Given the description of an element on the screen output the (x, y) to click on. 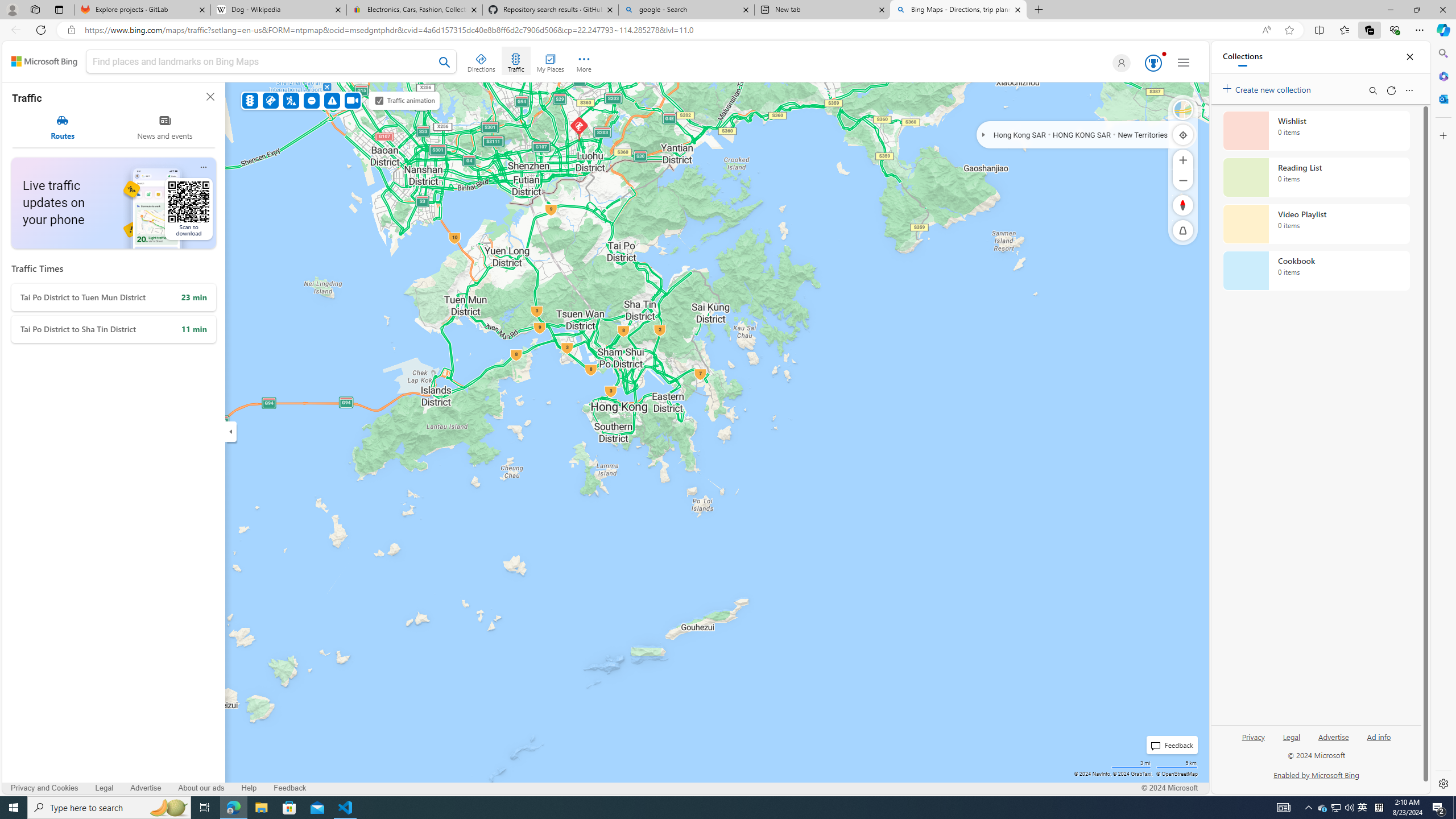
Search Bing Maps (444, 61)
